Given the description of an element on the screen output the (x, y) to click on. 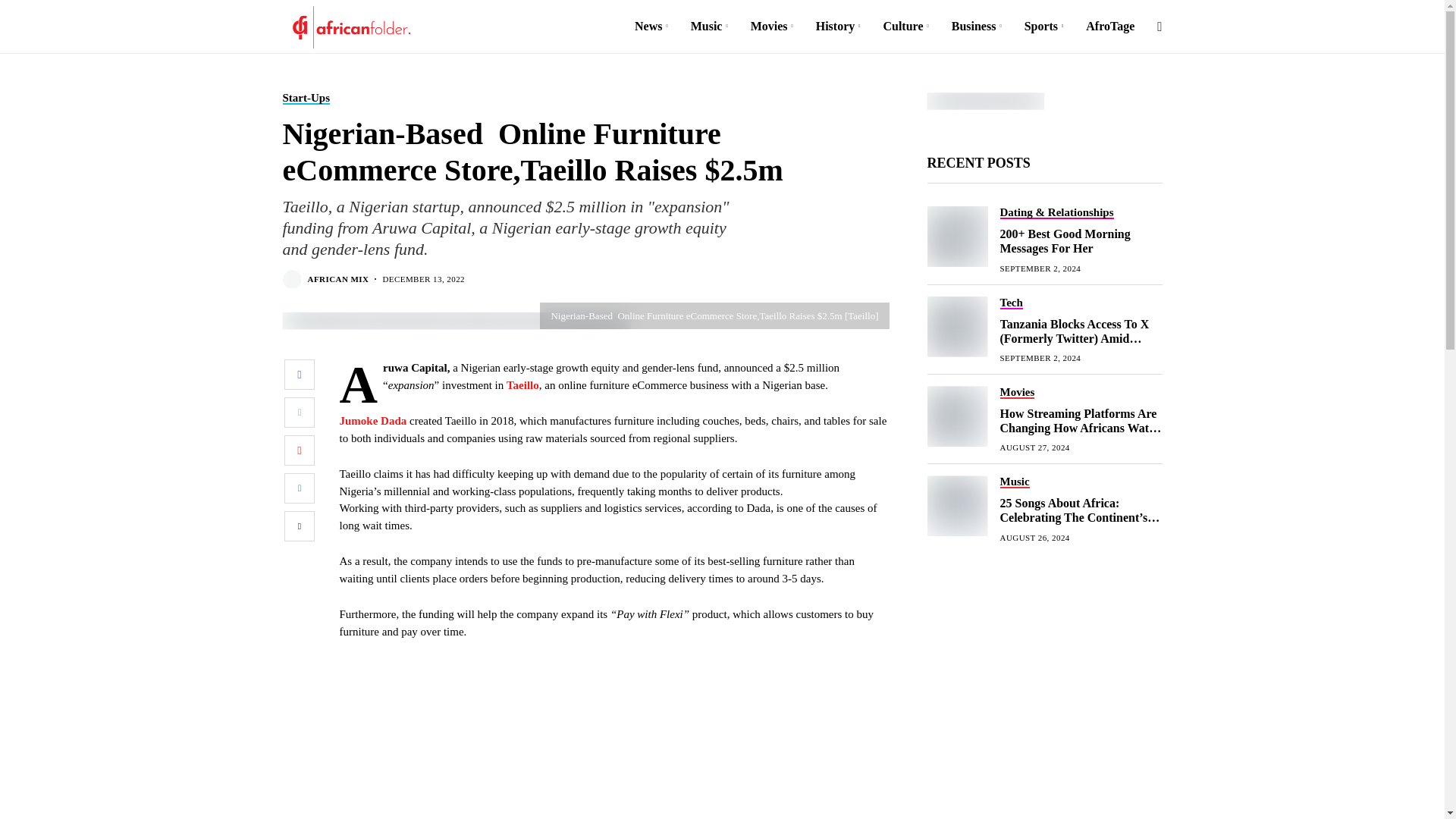
Jumoke Dada (373, 420)
Business (976, 26)
Taeillo (522, 385)
AfroTage (1110, 26)
NEW MUSIC AFRICA (984, 100)
Posts by African Mix (338, 279)
